Given the description of an element on the screen output the (x, y) to click on. 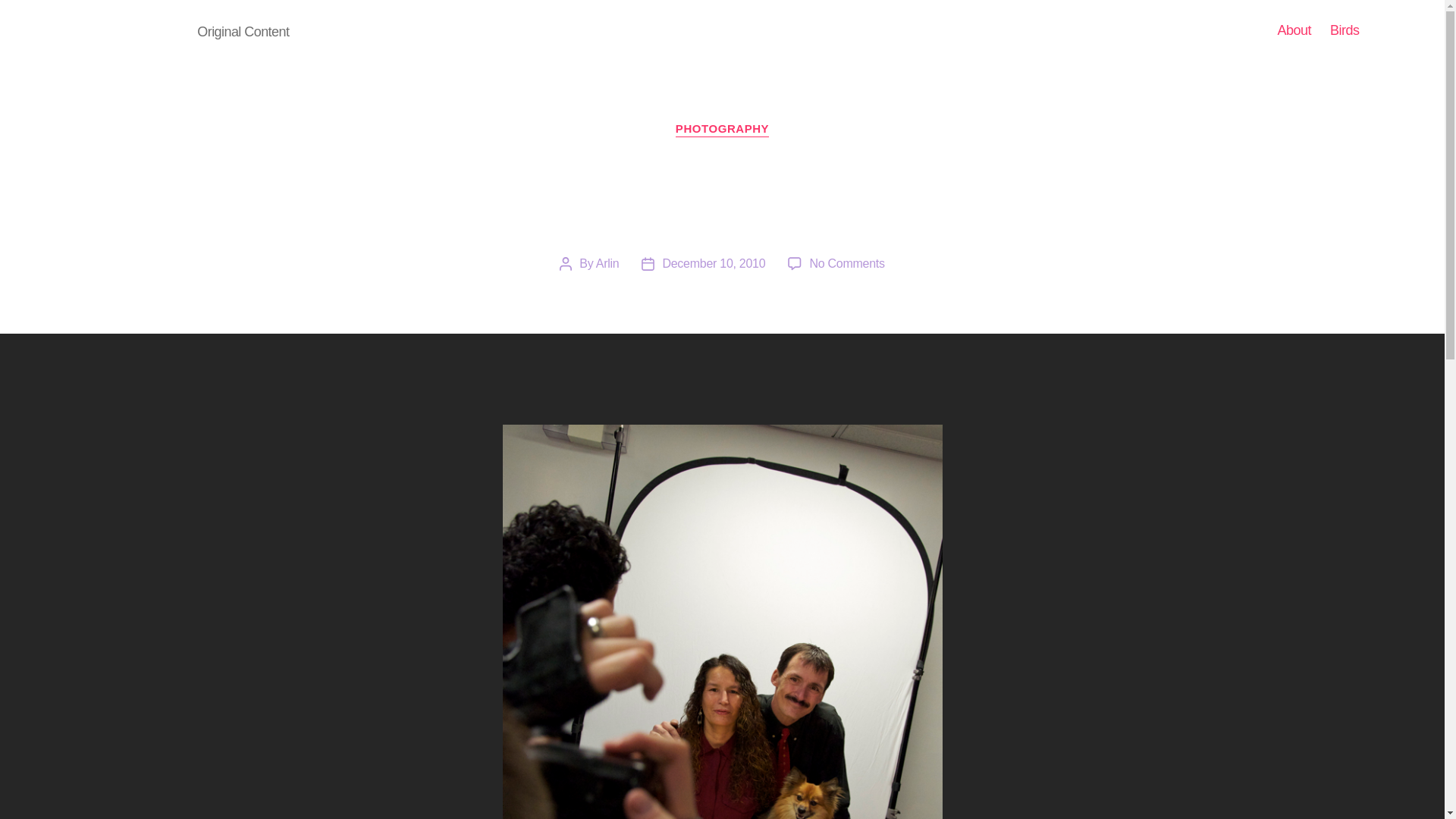
About (846, 263)
Birds (1293, 30)
December 10, 2010 (1344, 30)
Arlin (713, 263)
PHOTOGRAPHY (607, 263)
Arlin Makes (721, 129)
